Given the description of an element on the screen output the (x, y) to click on. 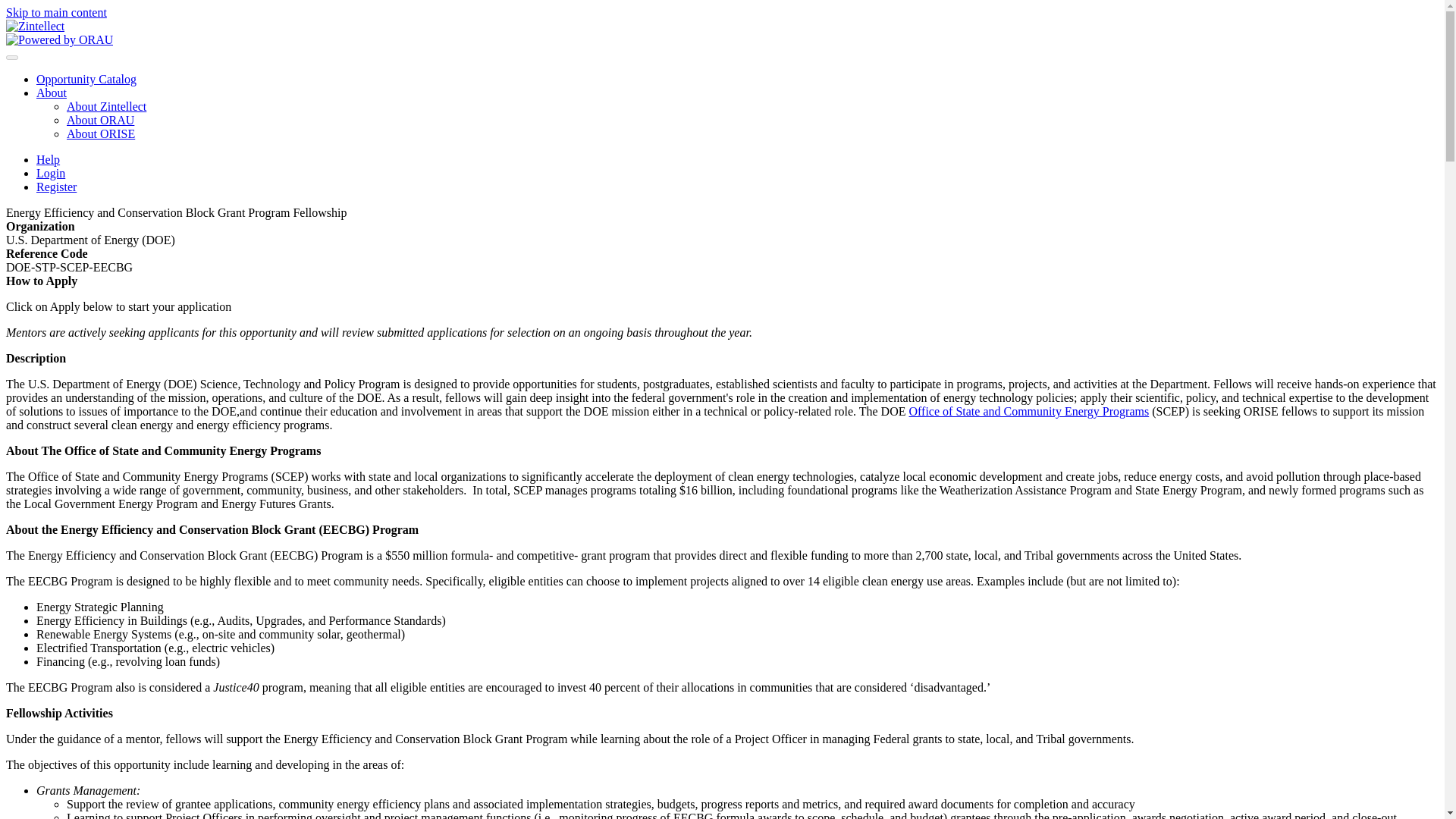
Office of State and Community Energy Programs (1028, 410)
Opportunity Catalog (86, 78)
Skip to main content (55, 11)
Powered by ORAU (59, 39)
About (51, 92)
About ORISE (100, 133)
Help (47, 159)
Login (50, 173)
About ORAU (99, 119)
About Zintellect (106, 106)
Register (56, 186)
